Given the description of an element on the screen output the (x, y) to click on. 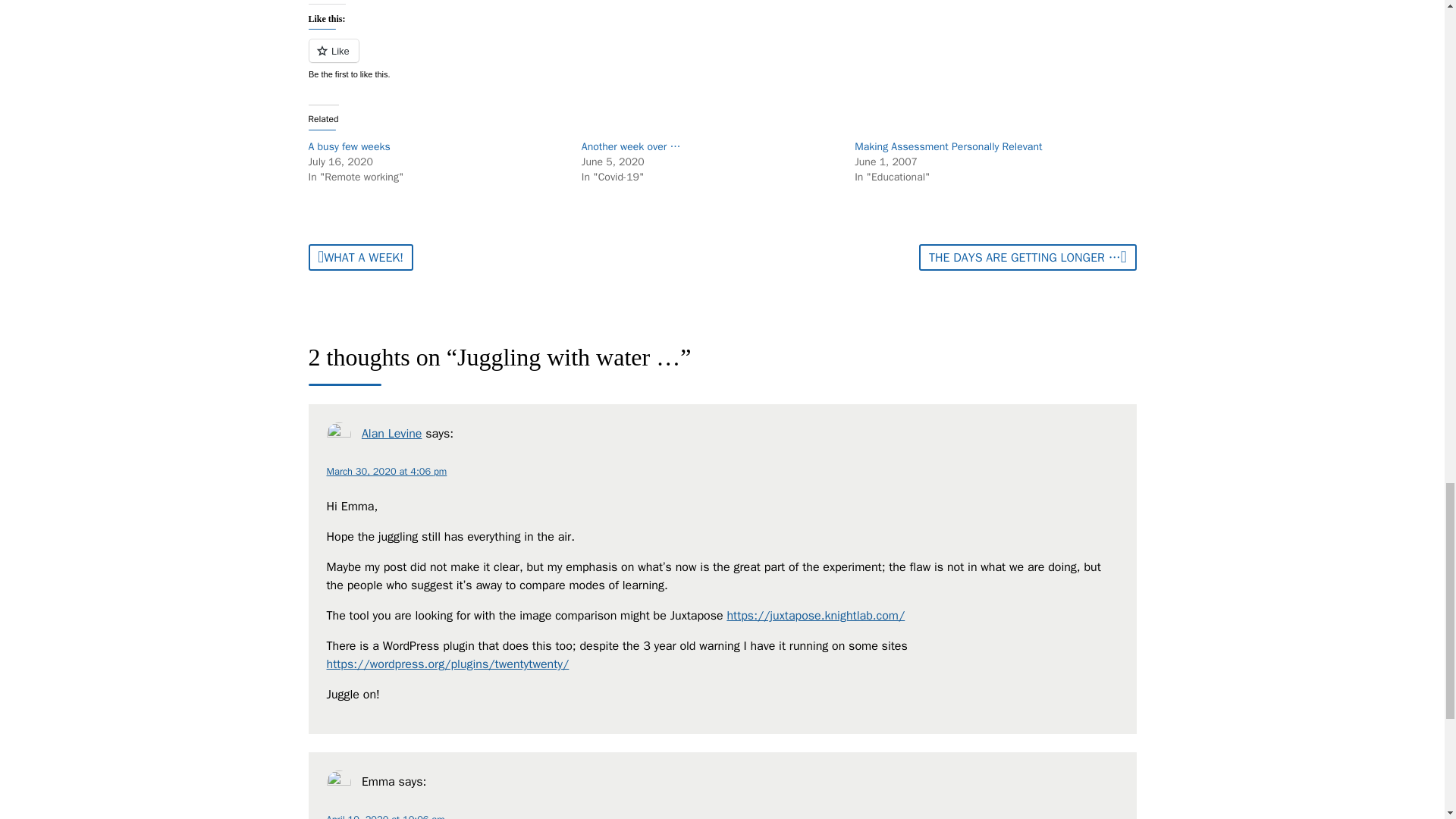
WHAT A WEEK! (359, 257)
Alan Levine (391, 433)
Making Assessment Personally Relevant (948, 146)
Like or Reblog (721, 59)
A busy few weeks (348, 146)
April 10, 2020 at 10:06 am (385, 816)
March 30, 2020 at 4:06 pm (386, 471)
A busy few weeks (348, 146)
Making Assessment Personally Relevant (948, 146)
